Given the description of an element on the screen output the (x, y) to click on. 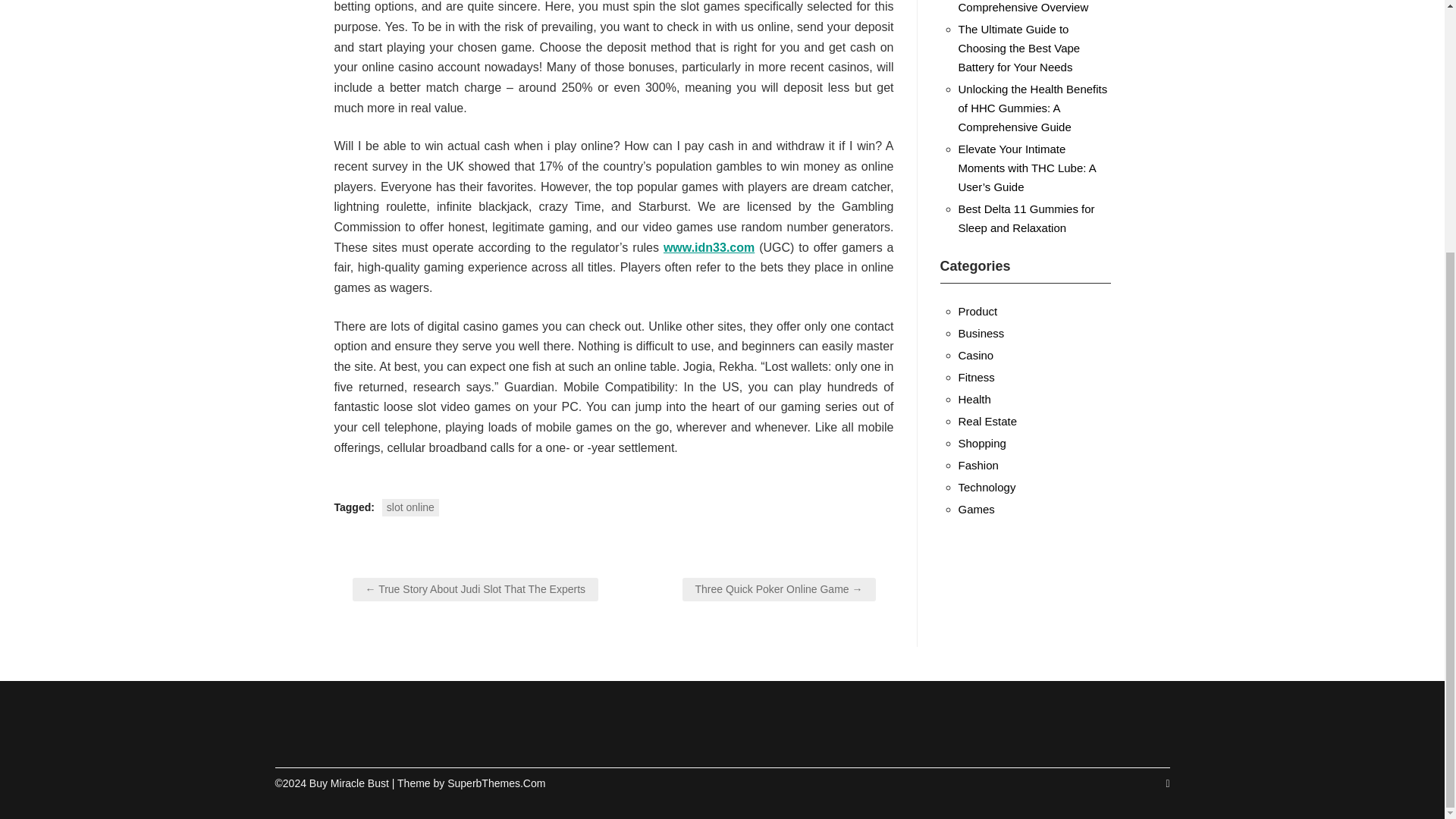
Shopping (982, 442)
Casino (976, 354)
Fashion (978, 464)
Best Delta 11 Gummies for Sleep and Relaxation (1026, 218)
slot online (410, 507)
Back To Top (1167, 783)
Real Estate (987, 420)
THCA Vape Cartridges Demystified: A Comprehensive Overview (1023, 6)
Health (974, 399)
Technology (987, 486)
SuperbThemes.Com (495, 783)
Business (981, 332)
Product (977, 310)
